Given the description of an element on the screen output the (x, y) to click on. 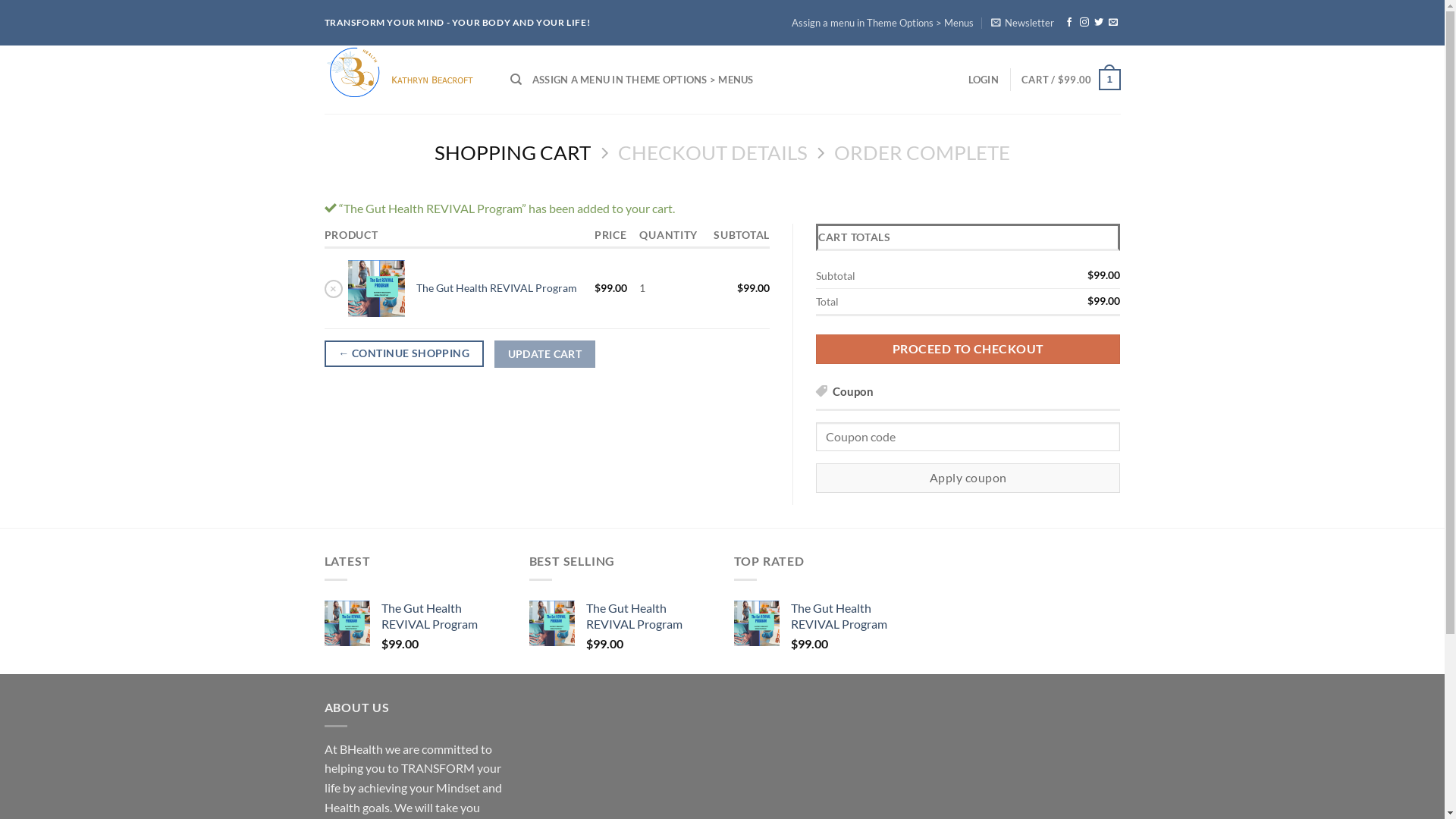
The Gut Health REVIVAL Program Element type: text (852, 616)
ORDER COMPLETE Element type: text (922, 152)
UPDATE CART Element type: text (544, 353)
Apply coupon Element type: text (967, 477)
The Gut Health REVIVAL Program Element type: text (647, 616)
Newsletter Element type: text (1022, 22)
The Gut Health REVIVAL Program Element type: text (496, 287)
LOGIN Element type: text (983, 79)
CART / $99.00
1 Element type: text (1070, 79)
BHealth Courses - BHealth Courses Element type: hover (405, 79)
ASSIGN A MENU IN THEME OPTIONS > MENUS Element type: text (642, 79)
CHECKOUT DETAILS Element type: text (711, 152)
Assign a menu in Theme Options > Menus Element type: text (882, 22)
SHOPPING CART Element type: text (512, 152)
PROCEED TO CHECKOUT Element type: text (967, 349)
The Gut Health REVIVAL Program Element type: text (442, 616)
